Given the description of an element on the screen output the (x, y) to click on. 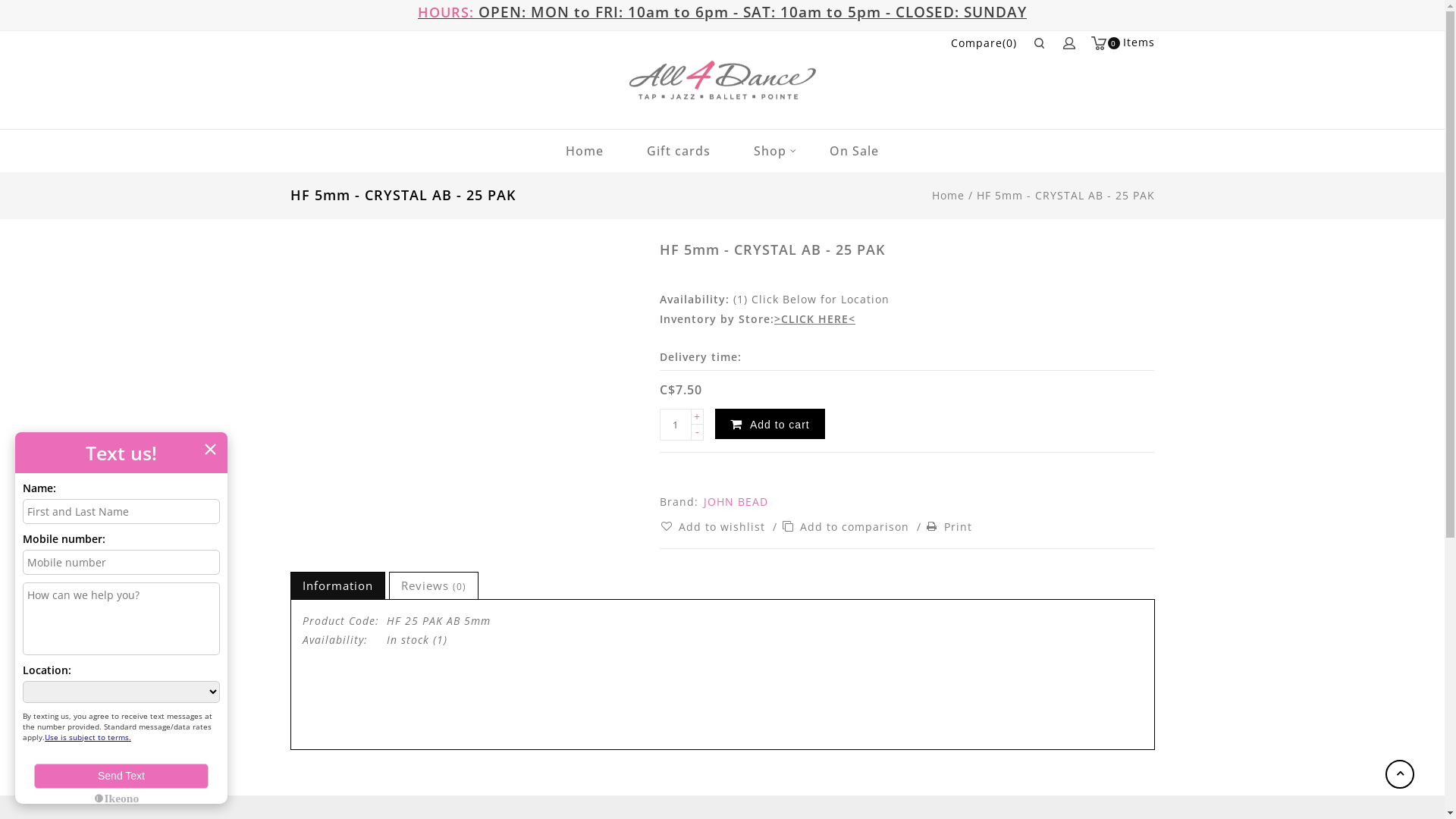
- Element type: text (696, 431)
Home Element type: text (584, 150)
Home Element type: text (947, 195)
HF 5mm - CRYSTAL AB - 25 PAK Element type: text (1065, 195)
Shop Element type: text (769, 150)
Gift cards Element type: text (678, 150)
Compare(0) Element type: text (983, 43)
Reviews (0) Element type: text (433, 584)
Add to wishlist Element type: text (713, 526)
+ Element type: text (696, 416)
On Sale Element type: text (854, 150)
Add to comparison Element type: text (847, 526)
Add to cart Element type: text (770, 423)
Information Element type: text (337, 584)
Print Element type: text (948, 526)
Back to top Element type: hover (1399, 773)
JOHN BEAD Element type: text (734, 501)
All 4 Dance - 2 Locations (South and West) Element type: hover (722, 79)
